Given the description of an element on the screen output the (x, y) to click on. 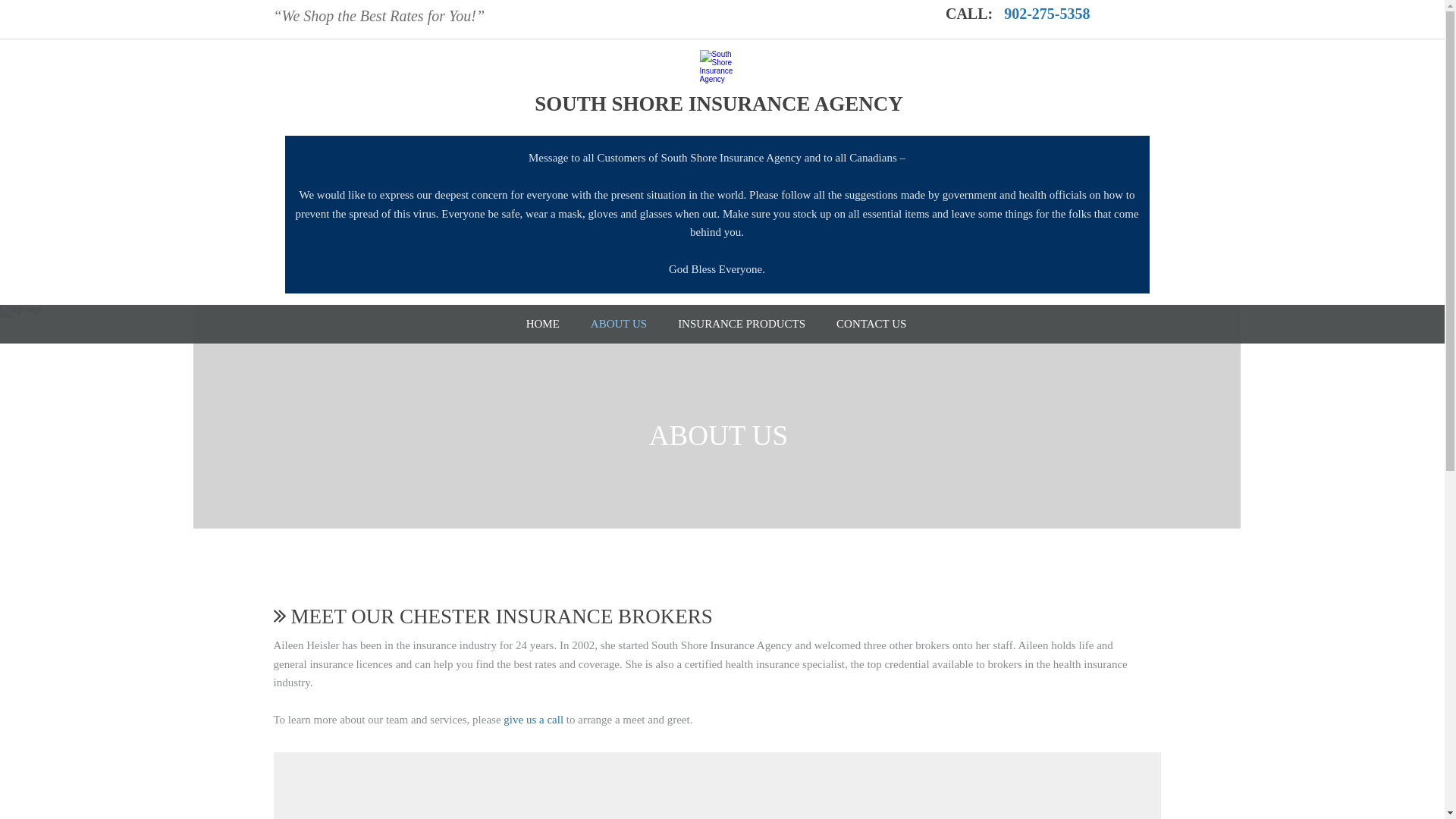
902-275-5358 (1044, 13)
give us a call (531, 719)
INSURANCE PRODUCTS (741, 323)
HOME (543, 323)
ABOUT US (618, 323)
CONTACT US (871, 323)
